Given the description of an element on the screen output the (x, y) to click on. 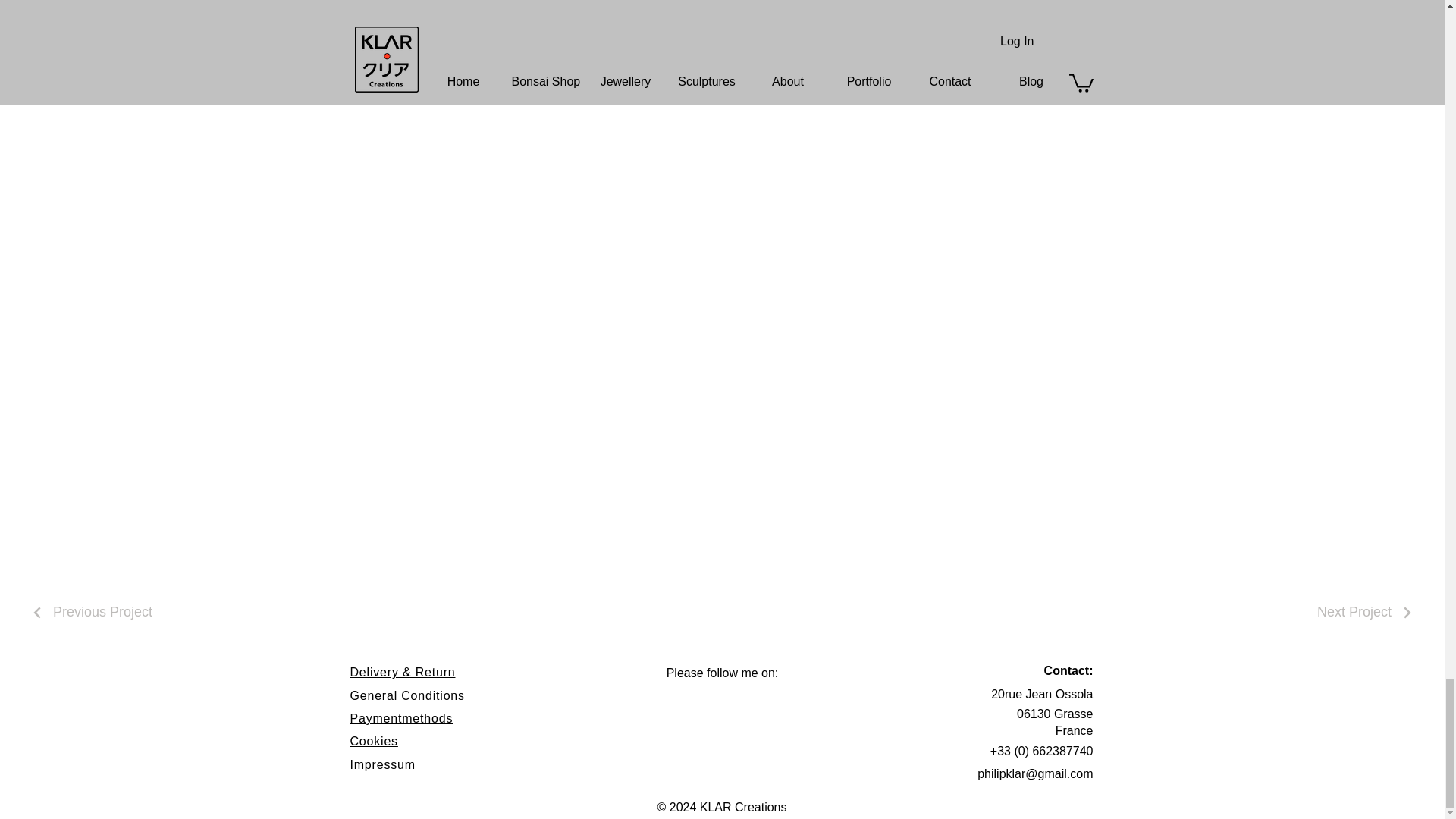
Next Project (1365, 612)
Paymentmethods (401, 717)
Previous Project (91, 612)
Cookies (373, 740)
Impressum (382, 764)
General Conditions (407, 695)
